Given the description of an element on the screen output the (x, y) to click on. 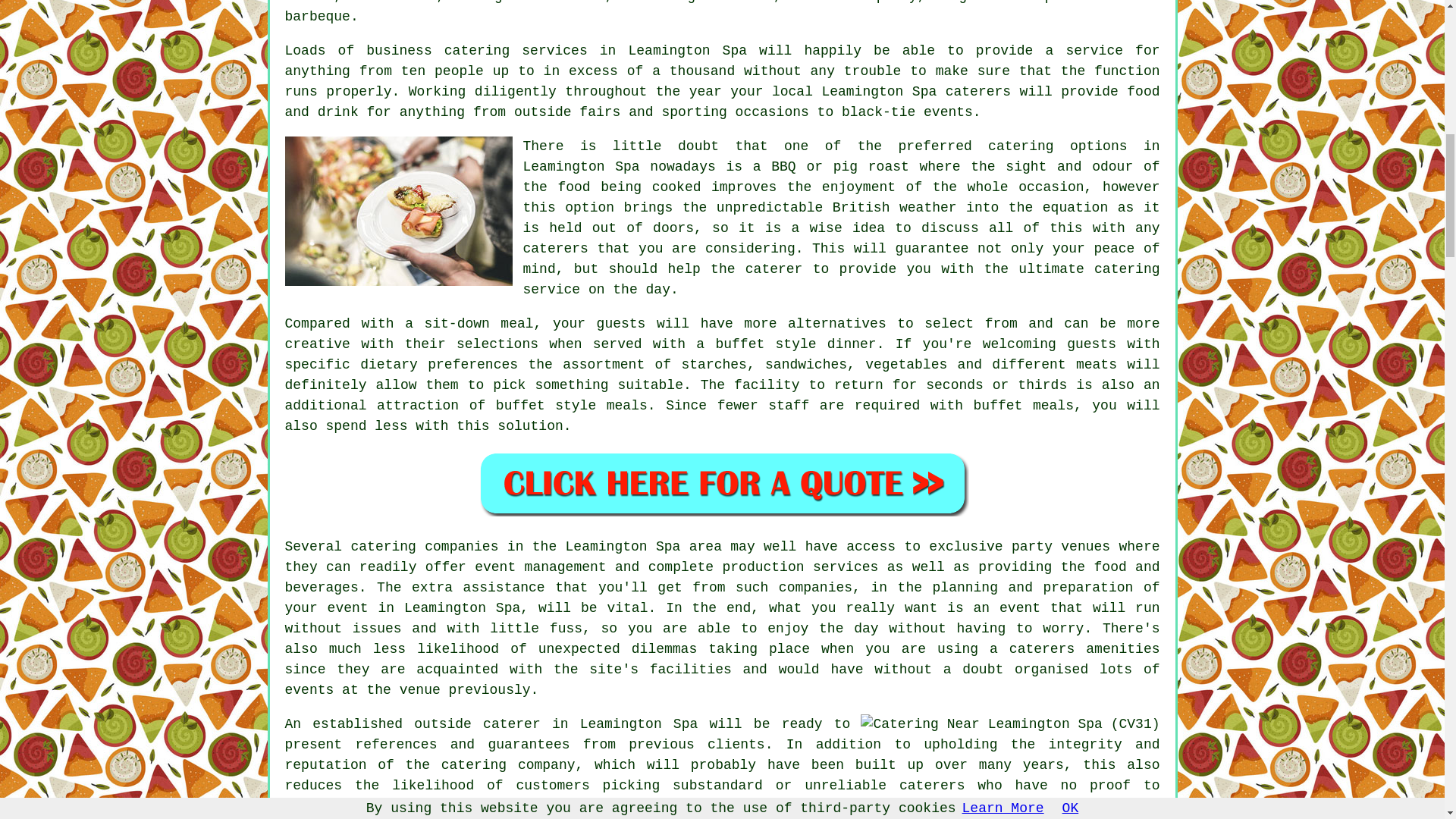
a buffet style (755, 344)
caterers (931, 785)
event management (539, 566)
caterers (977, 91)
Catering Quotes Leamington Spa Warwickshire (722, 483)
caterer (774, 268)
